Given the description of an element on the screen output the (x, y) to click on. 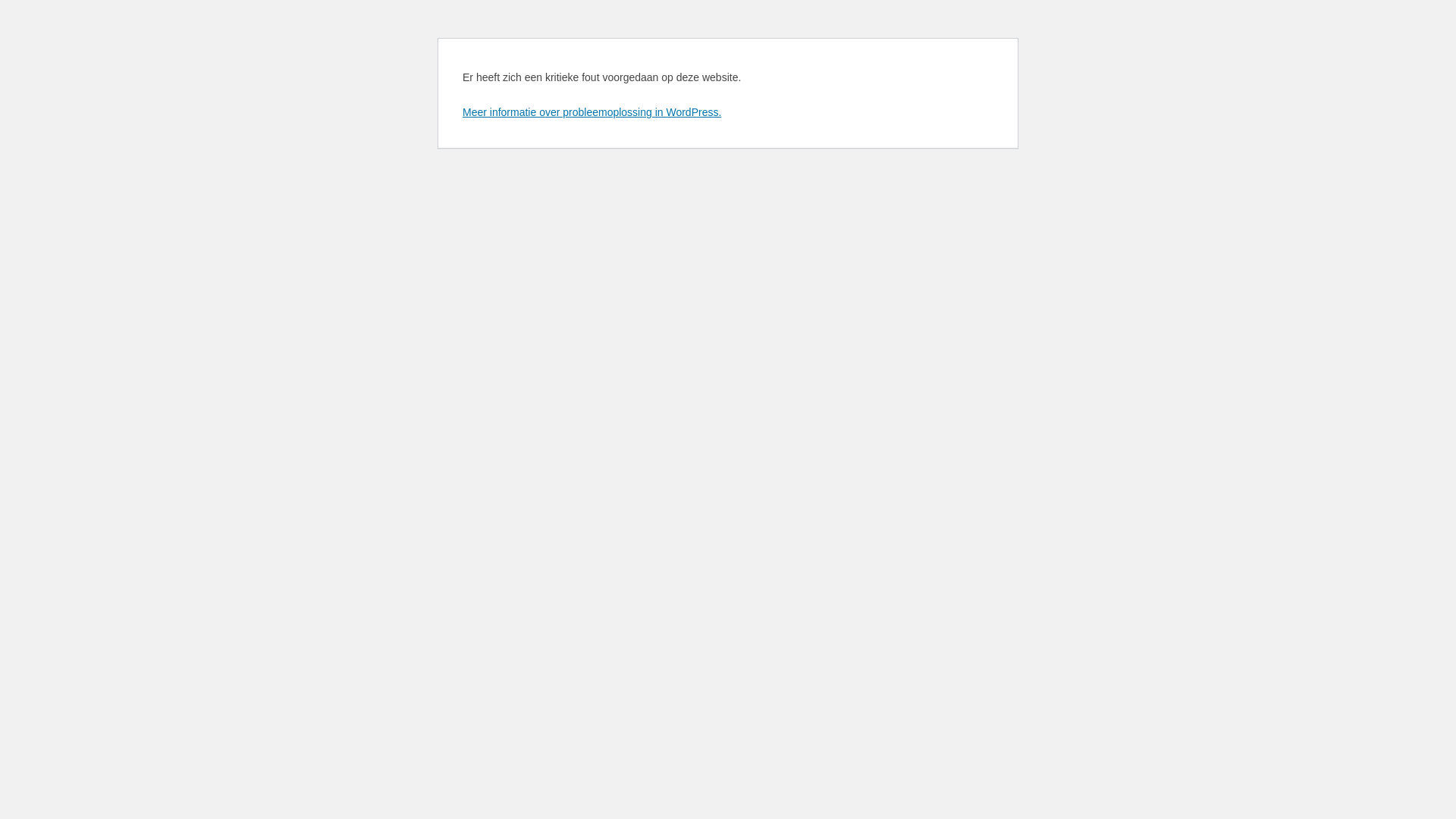
Meer informatie over probleemoplossing in WordPress. Element type: text (591, 112)
